Given the description of an element on the screen output the (x, y) to click on. 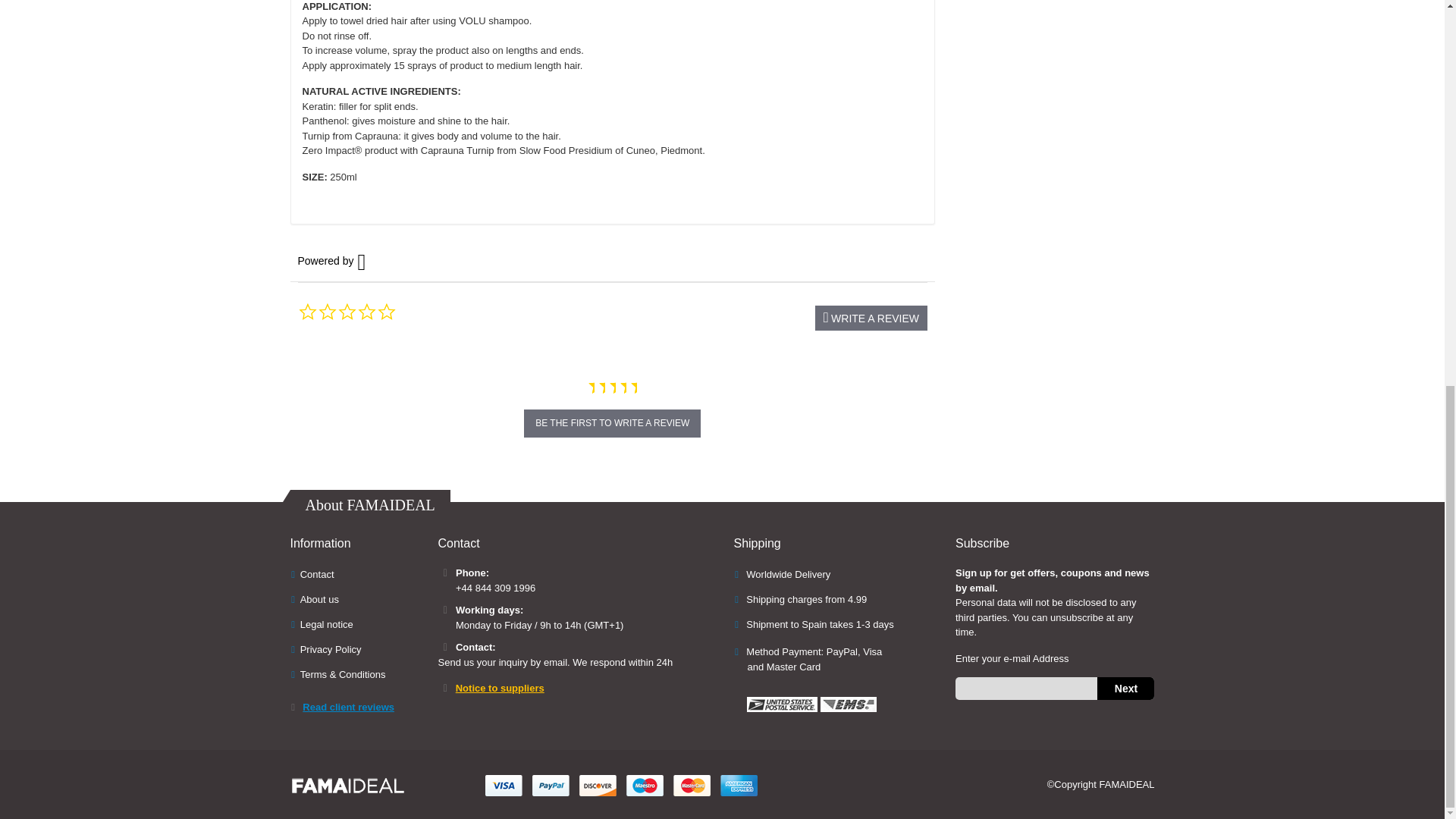
Submit (1125, 688)
Contactez (319, 599)
Sign up for our newsletter (1054, 688)
Contact (316, 573)
CGV (342, 674)
